Given the description of an element on the screen output the (x, y) to click on. 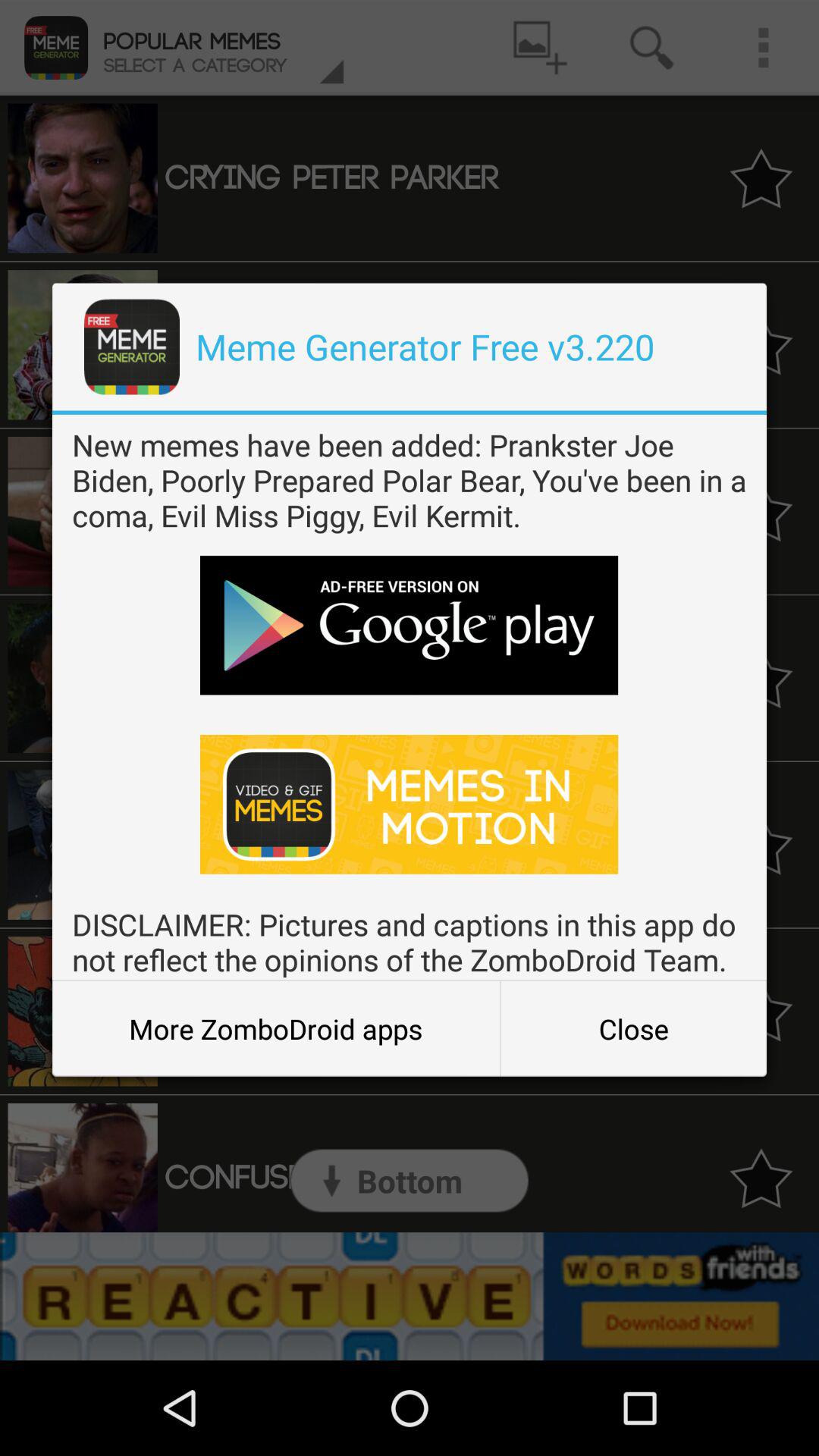
press the icon at the bottom right corner (633, 1028)
